Given the description of an element on the screen output the (x, y) to click on. 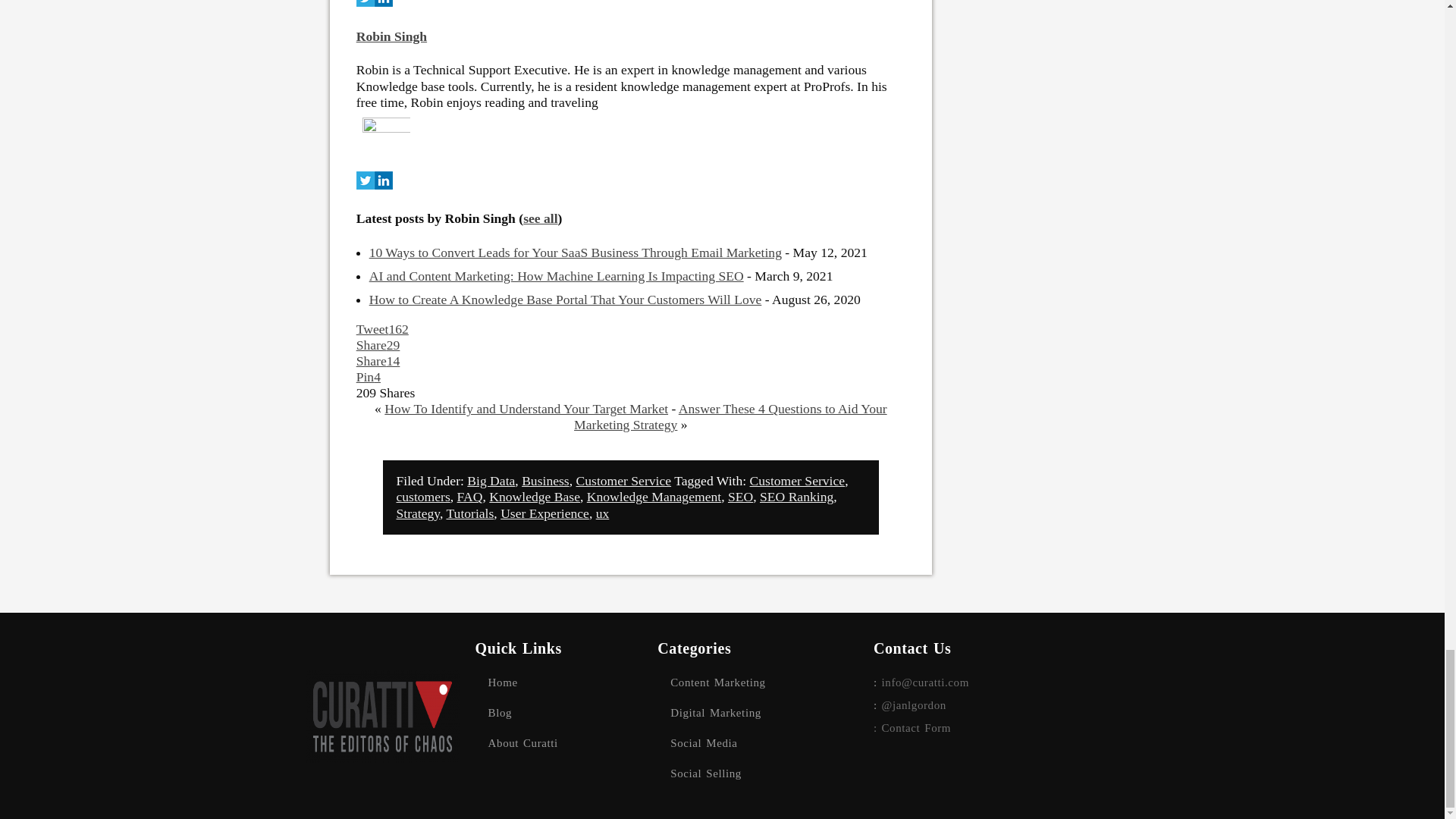
see all (539, 223)
Robin Singh (391, 41)
